Given the description of an element on the screen output the (x, y) to click on. 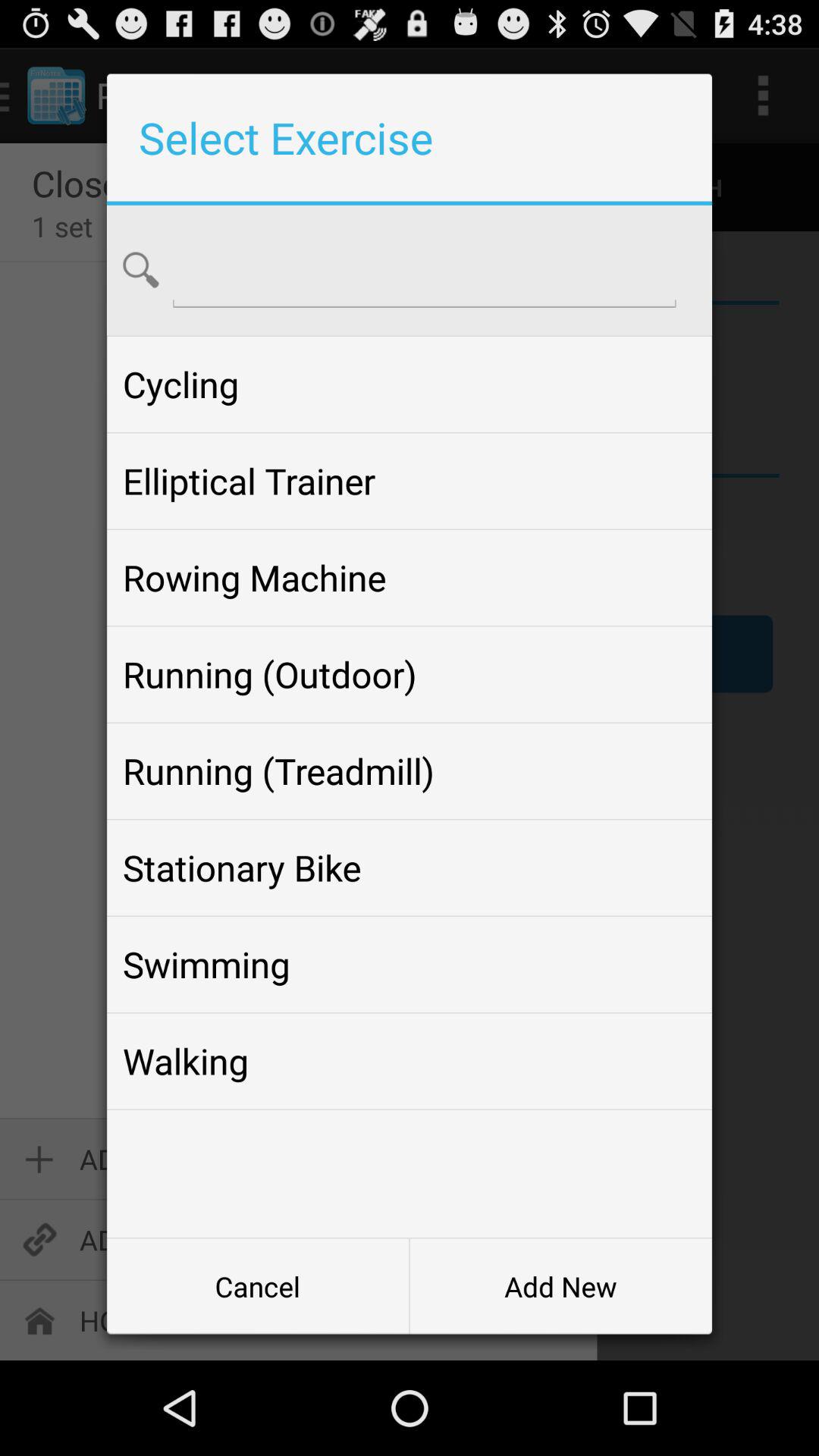
search the station bar (424, 268)
